Given the description of an element on the screen output the (x, y) to click on. 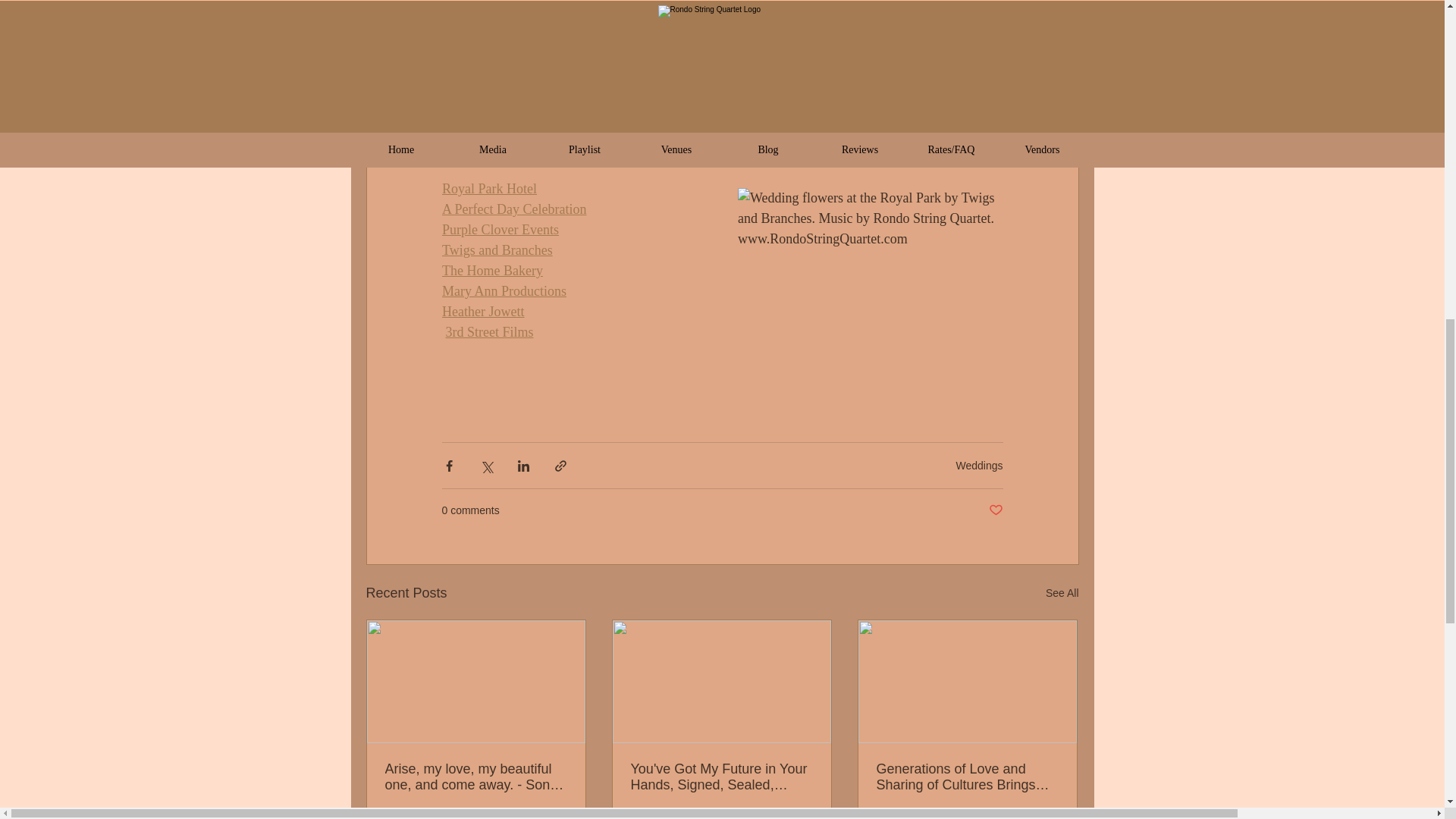
3rd Street Films (488, 331)
Mary Ann Productions (503, 290)
Royal Park Hotel (488, 188)
Danielle and Andre (573, 89)
Weddings (979, 465)
The Home Bakery (491, 270)
A Perfect Day Celebration (513, 209)
Twigs and Branches (496, 249)
Heather Jowett (481, 311)
Post not marked as liked (995, 510)
Purple Clover Events (499, 229)
See All (1061, 593)
